Given the description of an element on the screen output the (x, y) to click on. 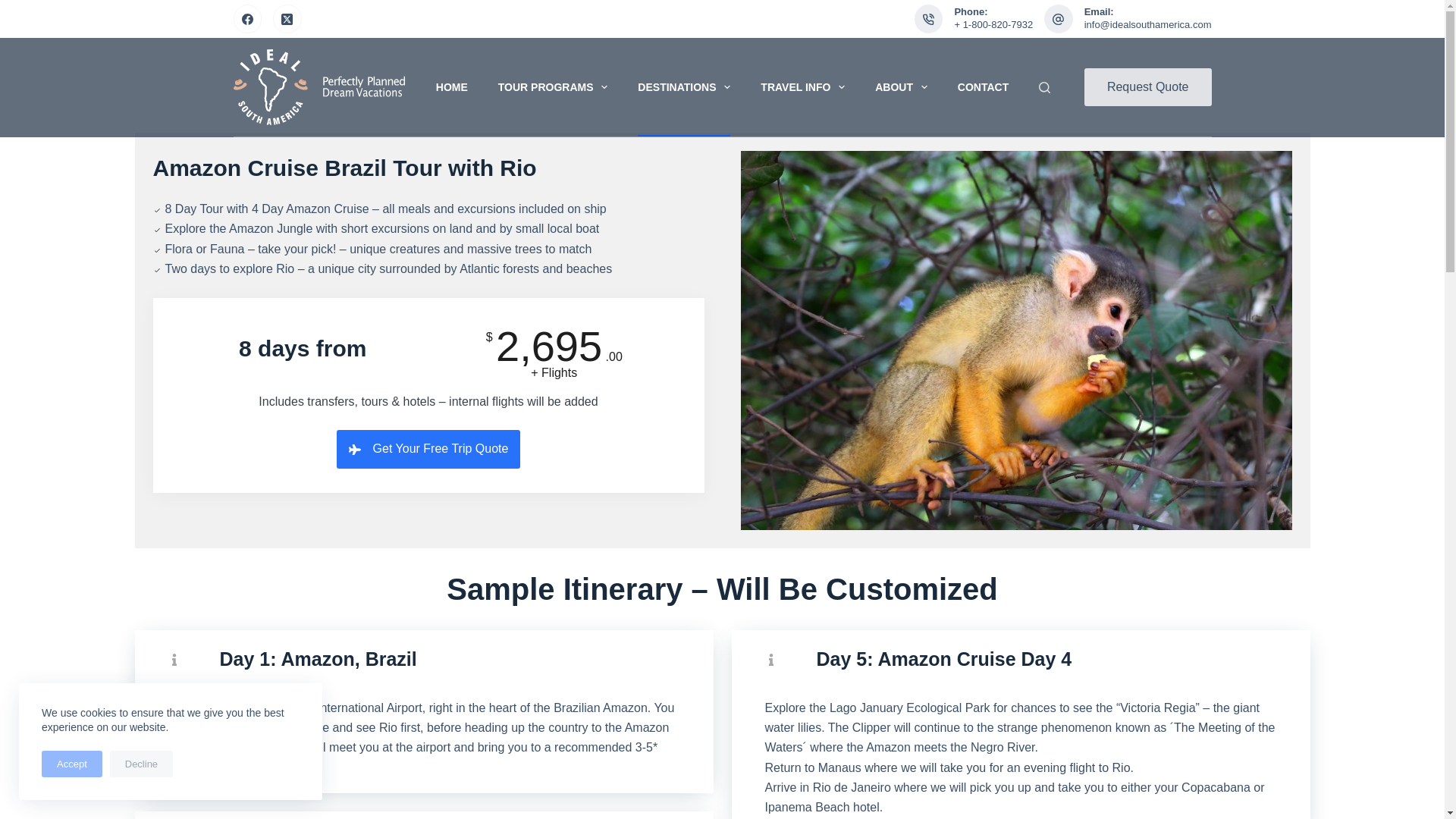
Skip to content (15, 7)
